Given the description of an element on the screen output the (x, y) to click on. 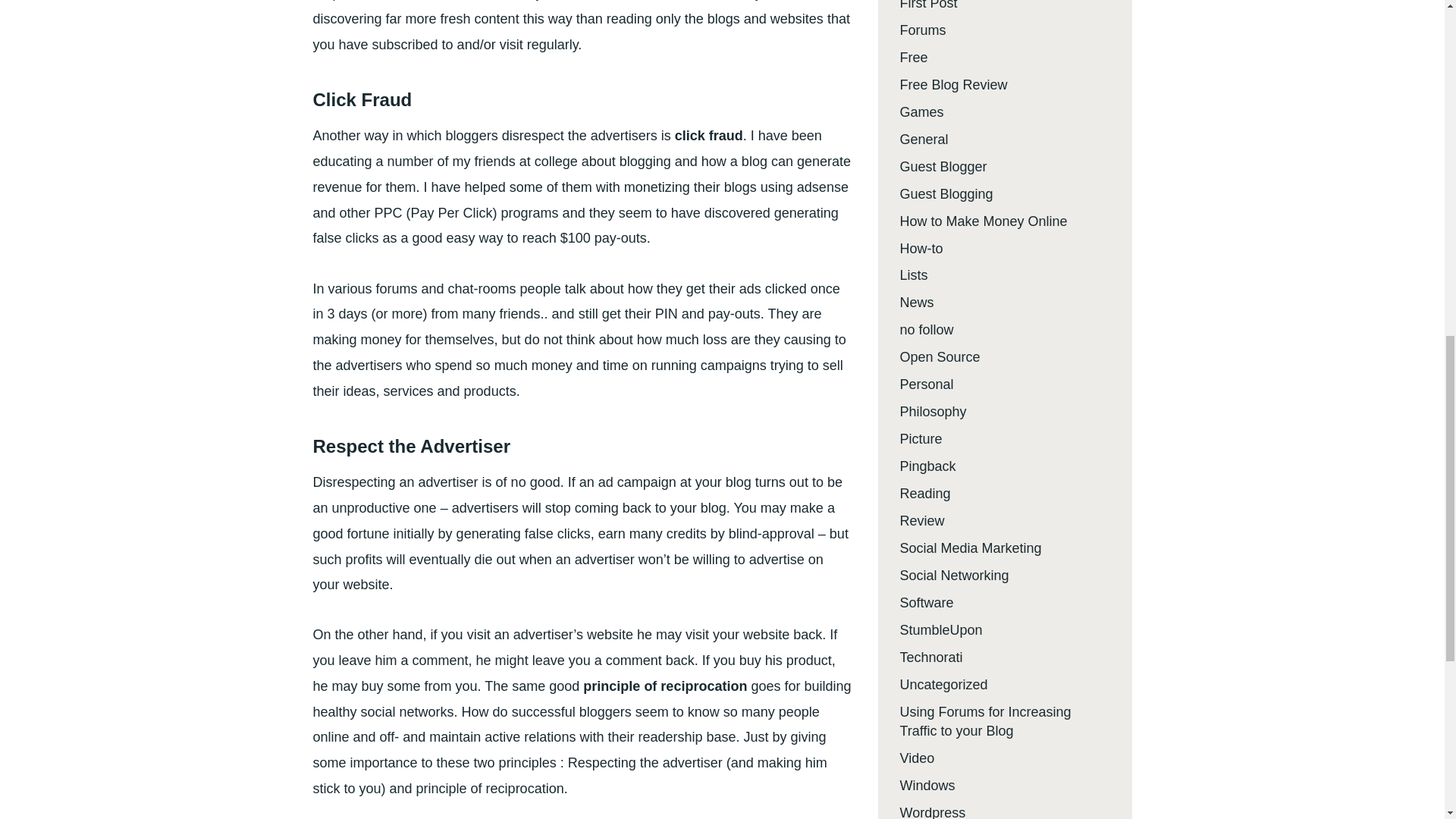
Forums (921, 29)
First Post (927, 5)
Free (913, 57)
Guest Blogging (945, 193)
General (923, 139)
Games (921, 111)
Guest Blogger (943, 166)
Free Blog Review (953, 84)
